Given the description of an element on the screen output the (x, y) to click on. 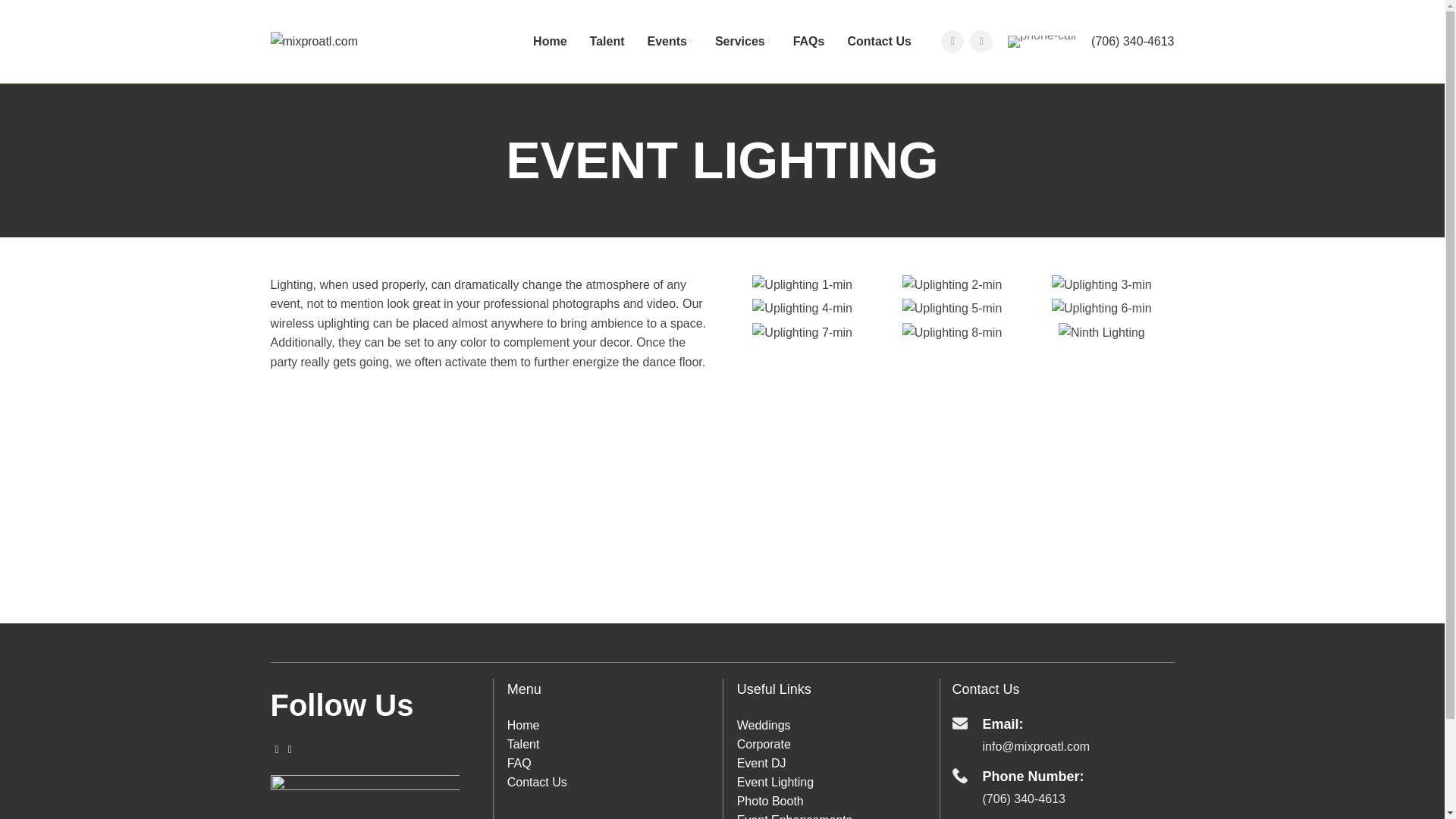
FAQ (518, 762)
Event Enhancements (793, 816)
Event Lighting (774, 781)
Weddings (763, 725)
Services (742, 41)
Talent (523, 744)
phone-call (1041, 41)
Home (523, 725)
Corporate (763, 744)
Events (670, 41)
FAQs (809, 41)
Contact Us (879, 41)
Event DJ (761, 762)
Contact Us (536, 781)
Home (549, 41)
